Given the description of an element on the screen output the (x, y) to click on. 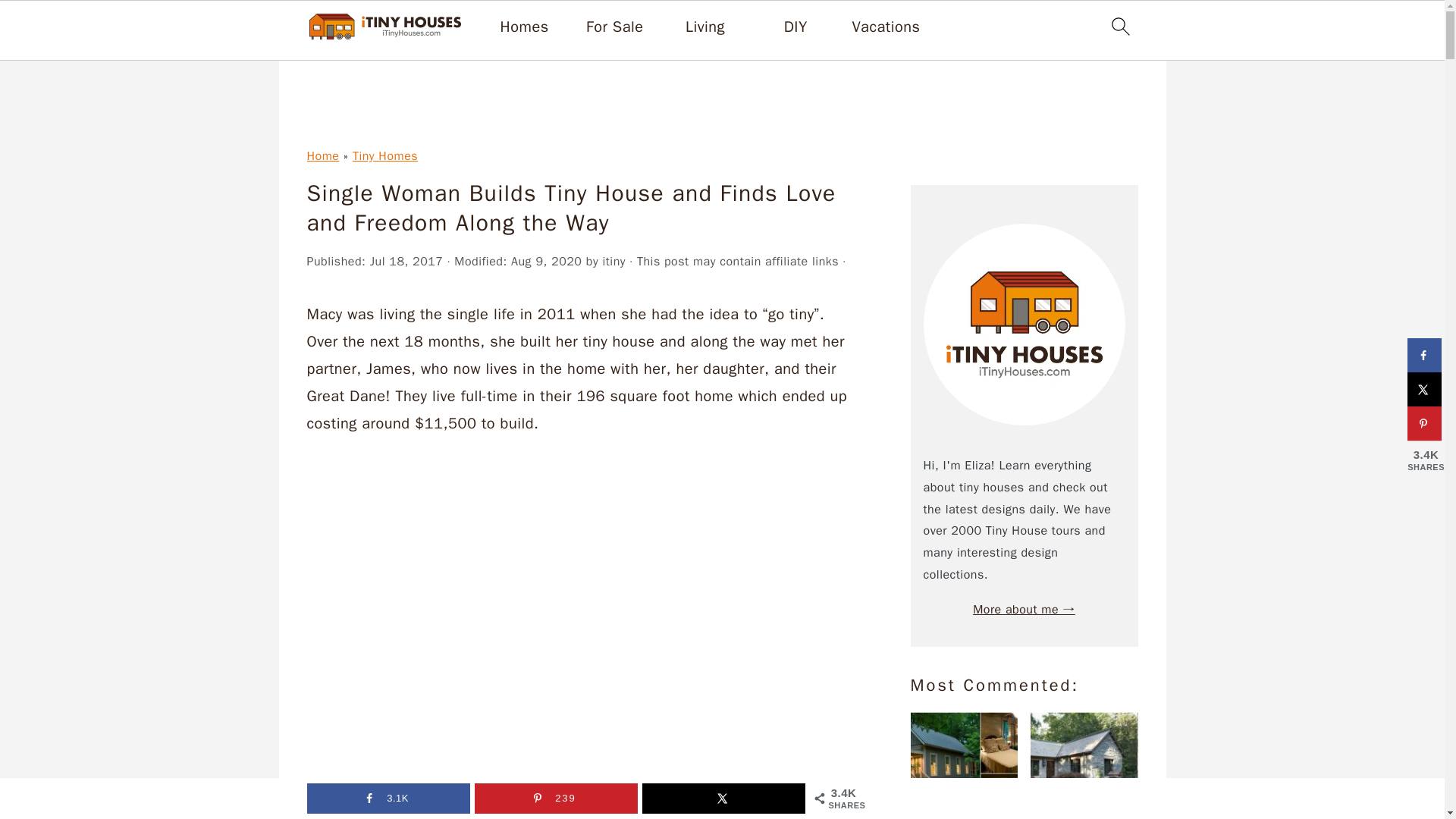
Homes (524, 27)
search icon (1119, 26)
Vacations (885, 27)
Living (705, 27)
DIY (796, 27)
For Sale (614, 27)
Share on Facebook (1424, 355)
